Given the description of an element on the screen output the (x, y) to click on. 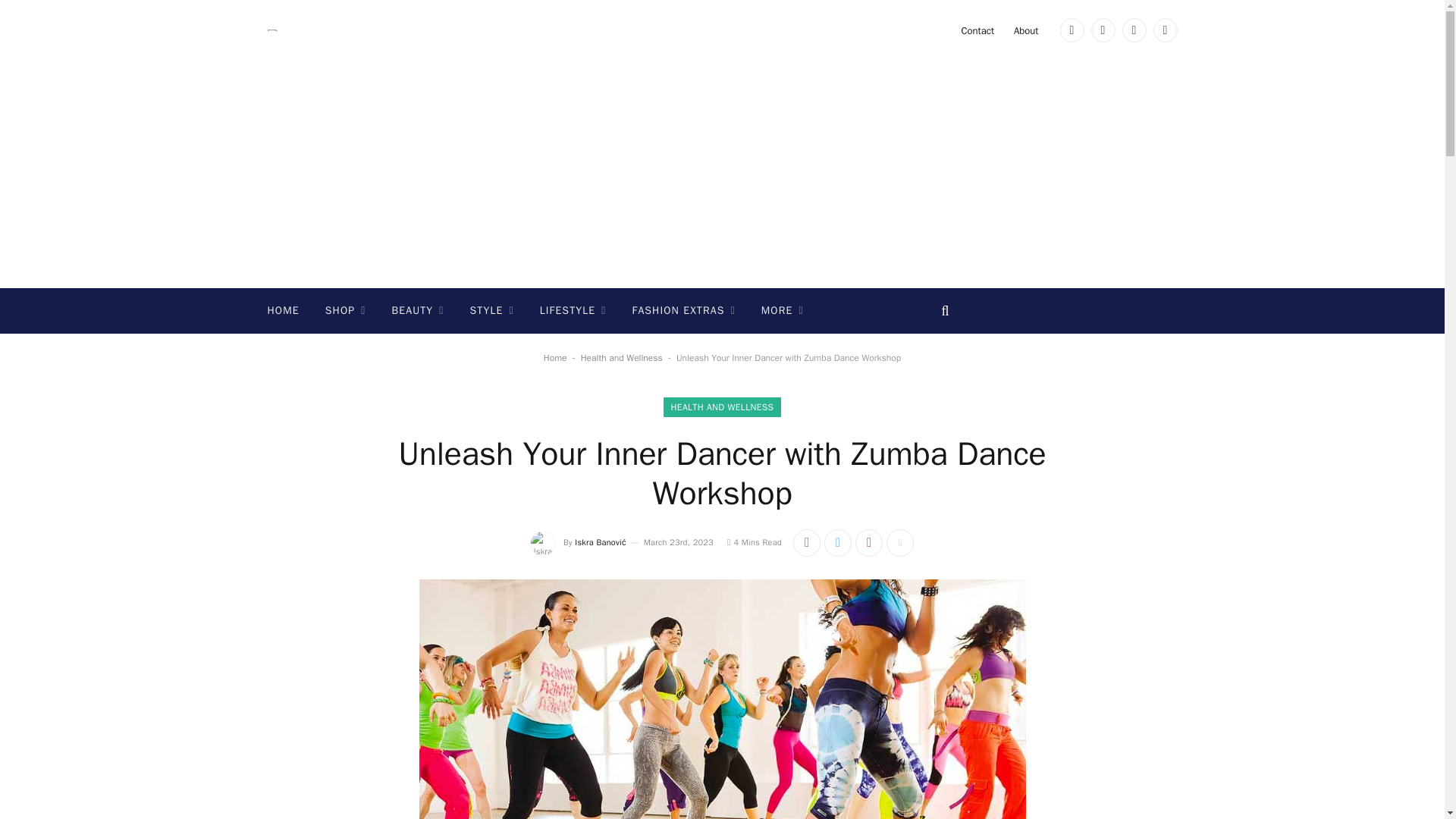
Share on Facebook (807, 542)
Show More Social Sharing (900, 542)
Share on Pinterest (869, 542)
